Given the description of an element on the screen output the (x, y) to click on. 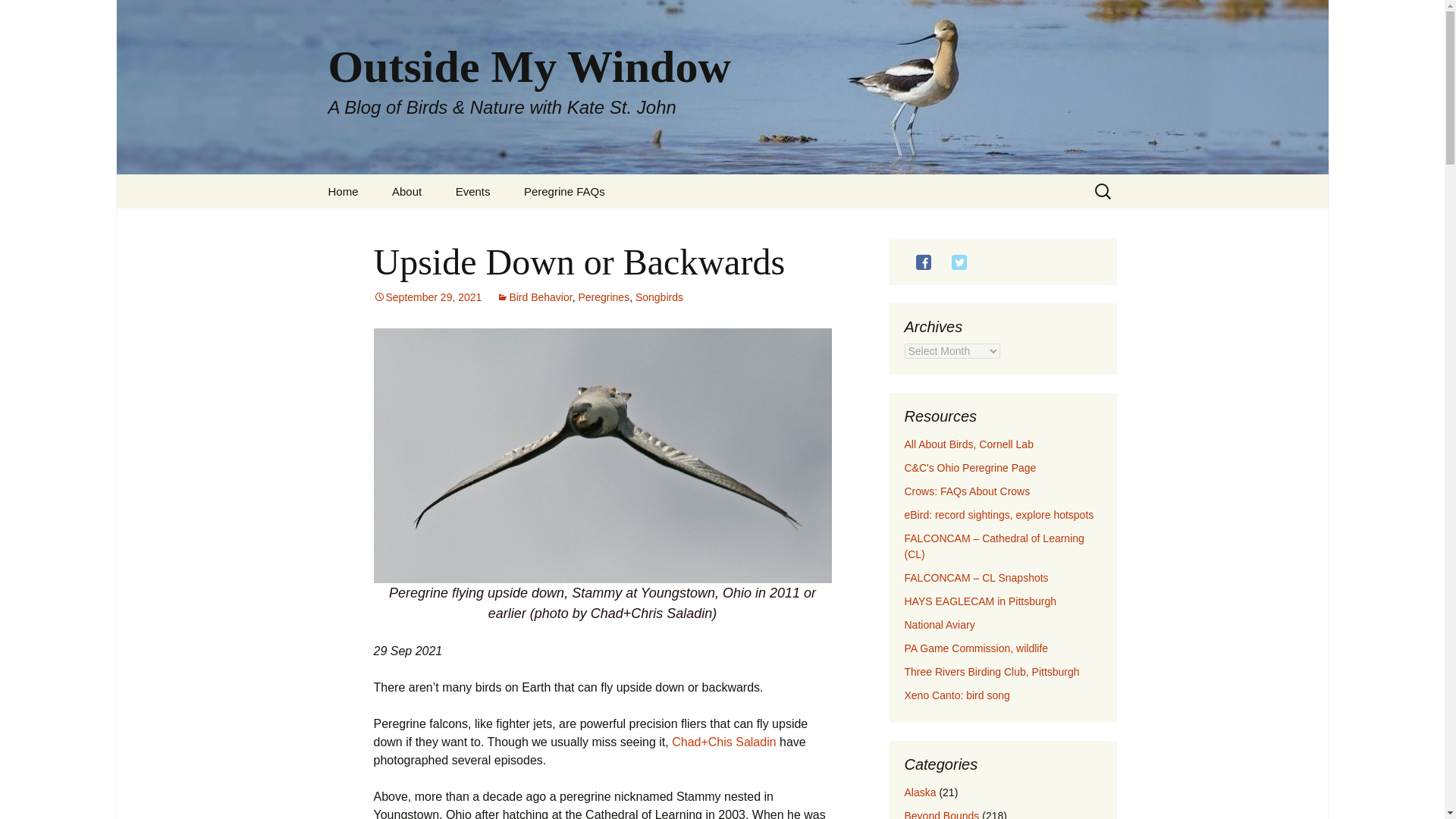
Home (342, 191)
Listserv of bird sightings in PA (998, 514)
Songbirds (658, 297)
Peregrine webcam, Univ of Pittsburgh (993, 546)
PGC wildlife link (976, 648)
Peregrine FAQs (564, 191)
Peregrines (603, 297)
Bird Behavior (534, 297)
Permalink to Upside Down or Backwards (426, 297)
Events (473, 191)
September 29, 2021 (426, 297)
FAQs About Crows from Corvid Research blog (966, 491)
Search (18, 15)
About (406, 191)
